Given the description of an element on the screen output the (x, y) to click on. 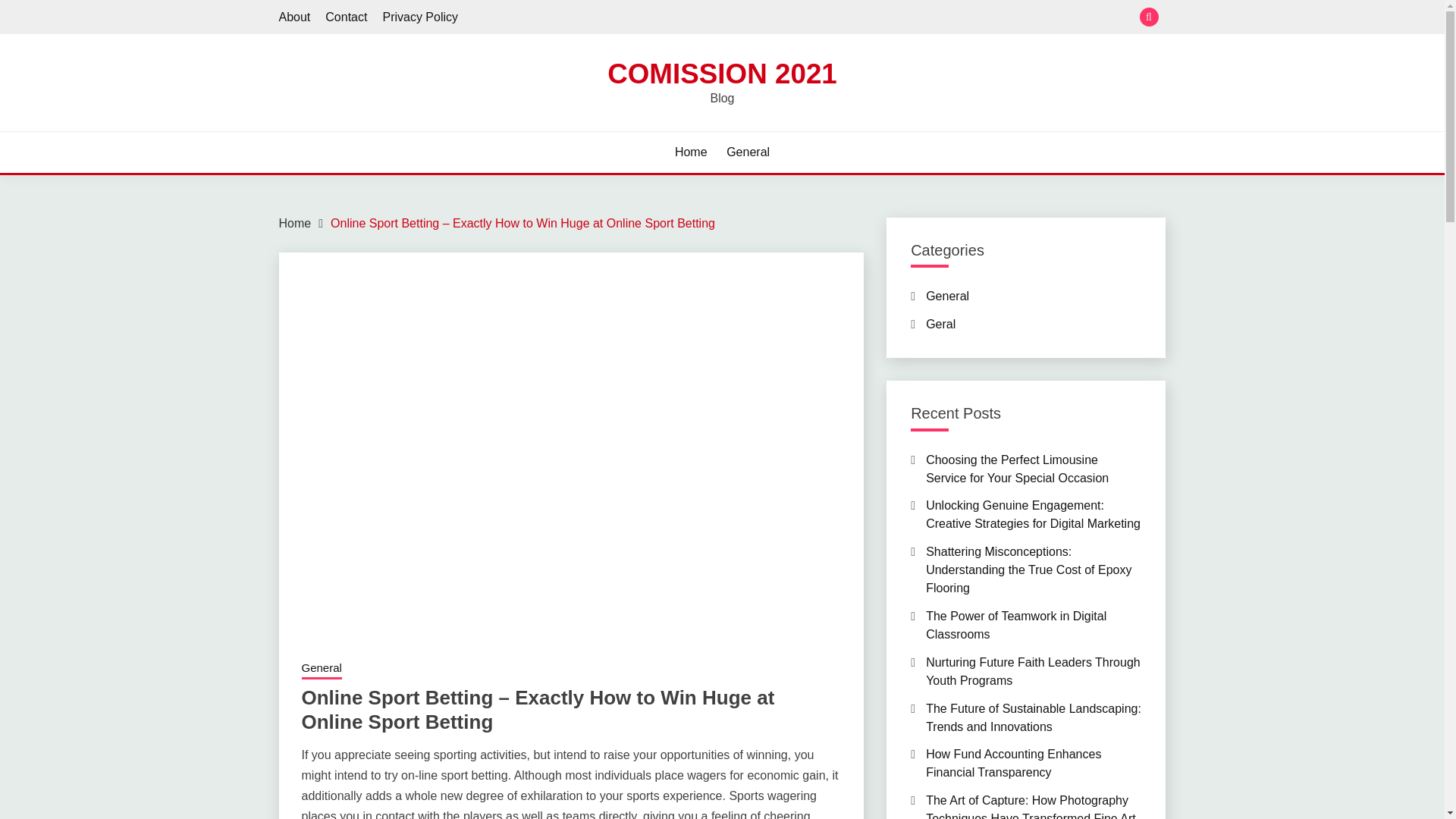
Home (295, 223)
General (321, 669)
General (748, 152)
Contact (345, 16)
Geral (940, 323)
Home (691, 152)
Privacy Policy (419, 16)
About (295, 16)
